Given the description of an element on the screen output the (x, y) to click on. 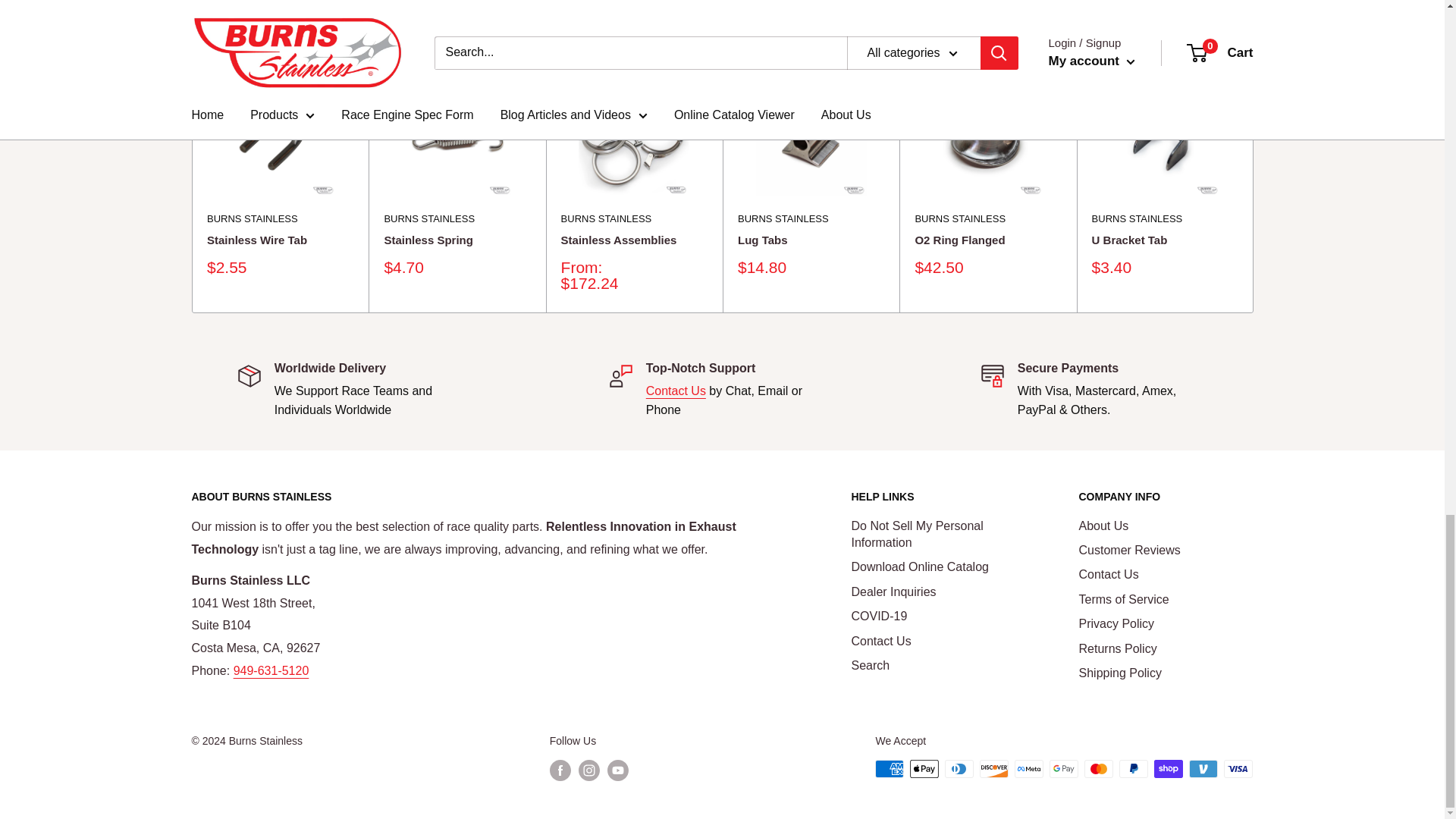
Contact Us (676, 390)
